Given the description of an element on the screen output the (x, y) to click on. 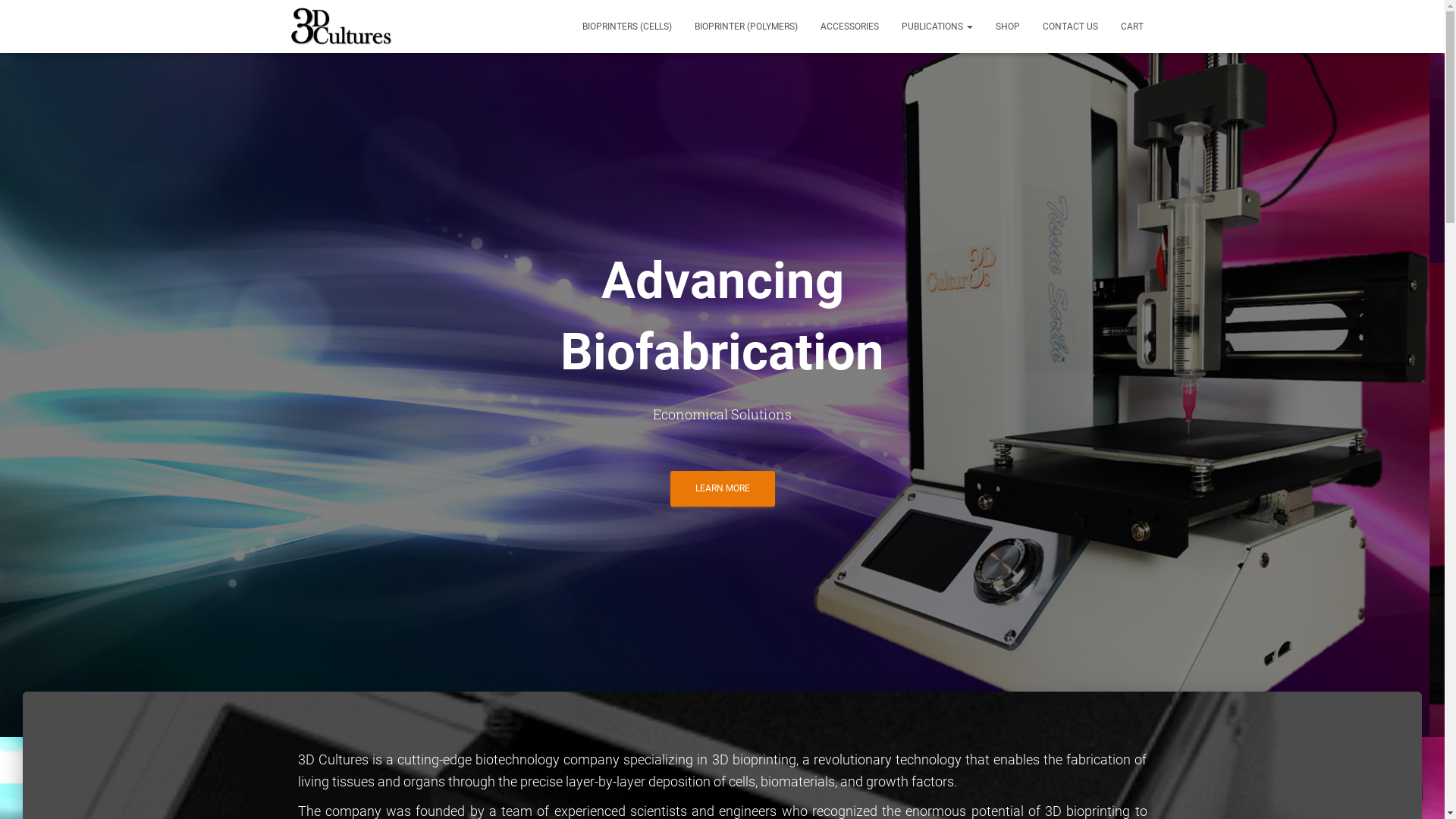
BIOPRINTER (POLYMERS) Element type: text (745, 26)
BIOPRINTERS (CELLS) Element type: text (626, 26)
ACCESSORIES Element type: text (848, 26)
PUBLICATIONS Element type: text (937, 26)
CART Element type: text (1131, 26)
3D Cultures Element type: hover (341, 26)
CONTACT US Element type: text (1070, 26)
LEARN MORE Element type: text (722, 488)
SHOP Element type: text (1007, 26)
